Given the description of an element on the screen output the (x, y) to click on. 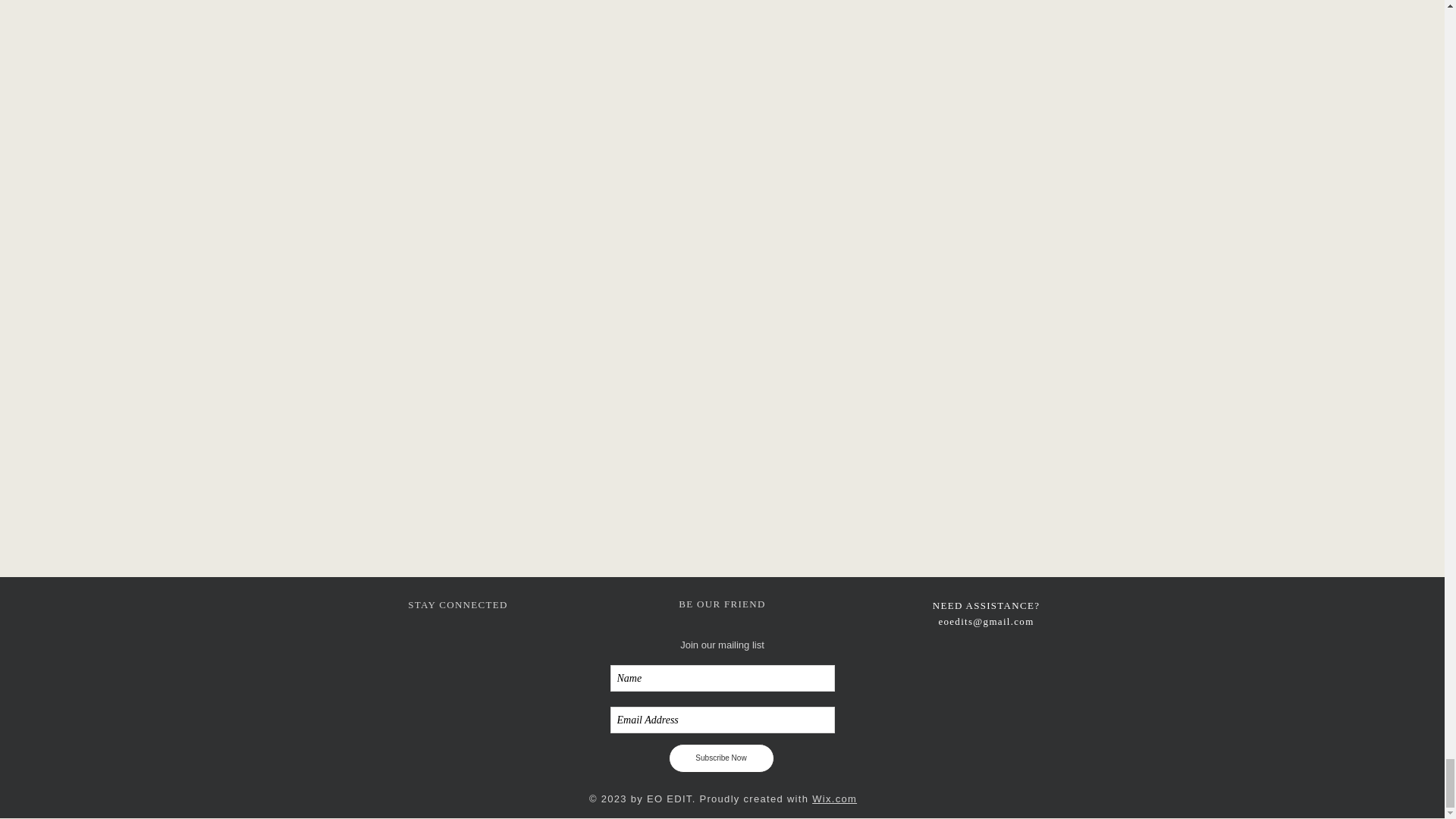
Subscribe Now (721, 758)
Wix.com (834, 798)
